Given the description of an element on the screen output the (x, y) to click on. 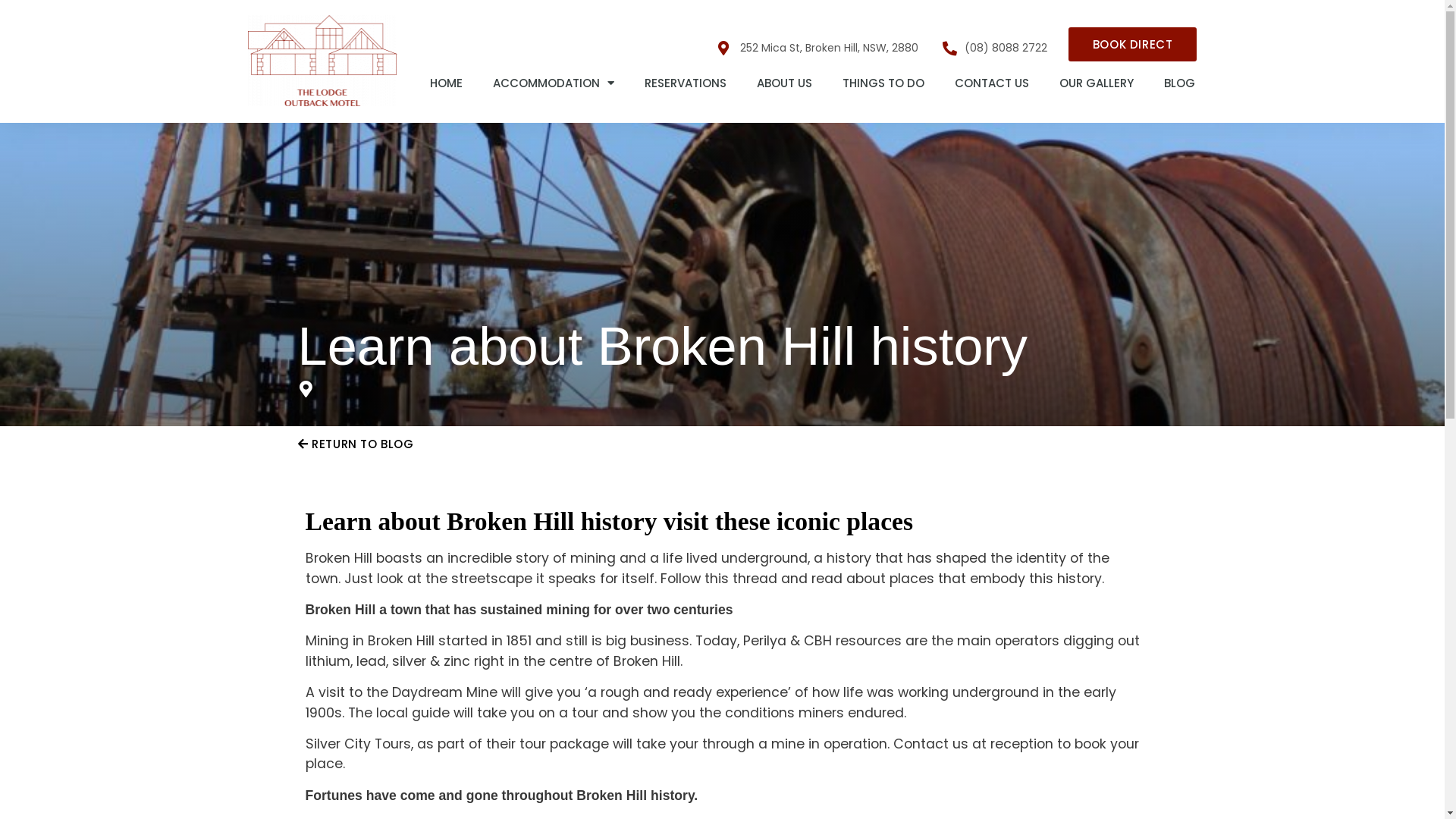
(08) 8088 2722 Element type: text (994, 47)
THINGS TO DO Element type: text (883, 83)
ACCOMMODATION Element type: text (553, 83)
CONTACT US Element type: text (991, 83)
OUR GALLERY Element type: text (1096, 83)
RETURN TO BLOG Element type: text (355, 443)
RESERVATIONS Element type: text (685, 83)
252 Mica St, Broken Hill, NSW, 2880 Element type: text (818, 47)
BLOG Element type: text (1179, 83)
ABOUT US Element type: text (784, 83)
HOME Element type: text (445, 83)
BOOK DIRECT Element type: text (1132, 44)
